Given the description of an element on the screen output the (x, y) to click on. 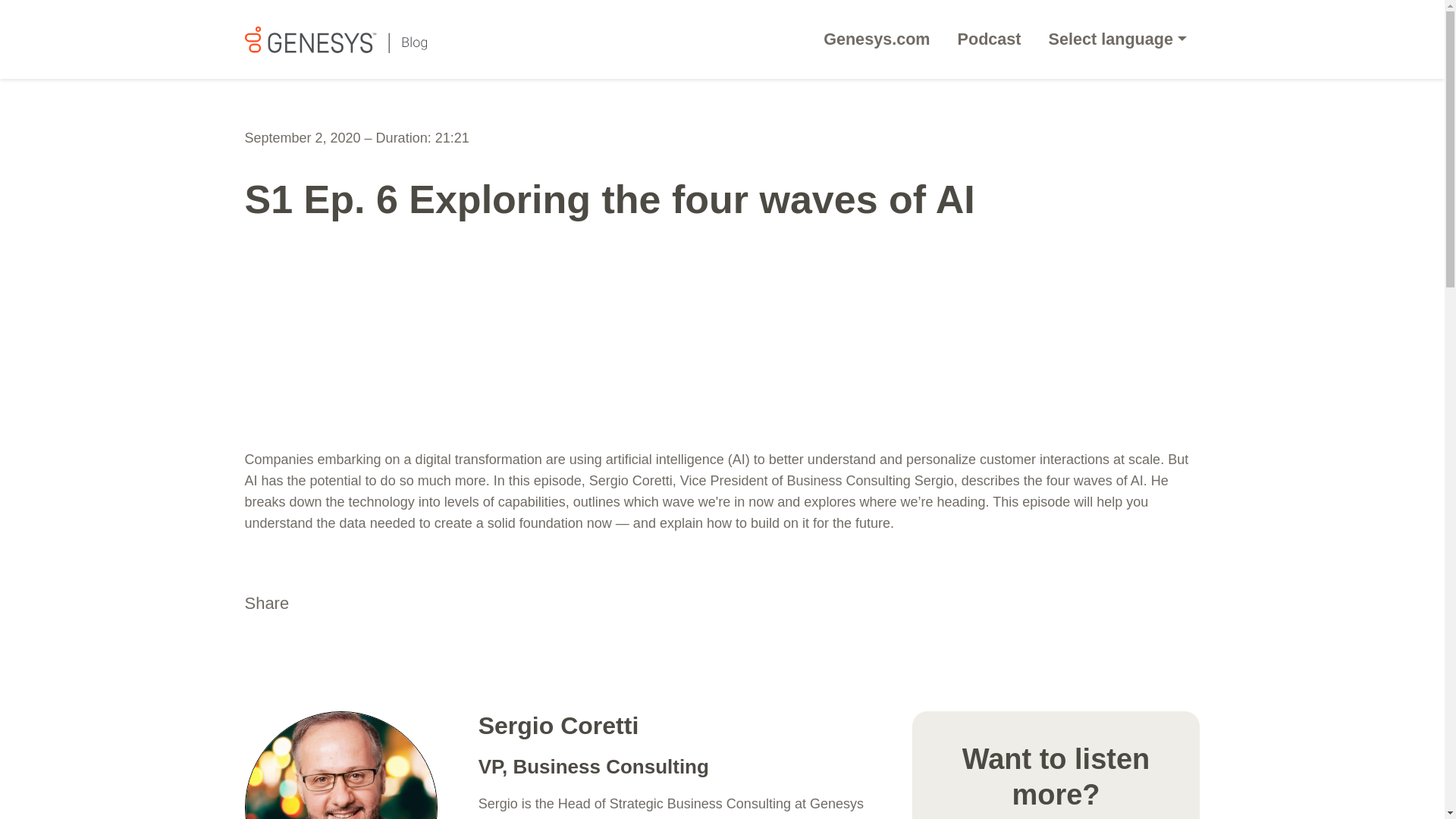
Podcast (989, 39)
Select language (1117, 39)
Genesys.com (876, 39)
